Given the description of an element on the screen output the (x, y) to click on. 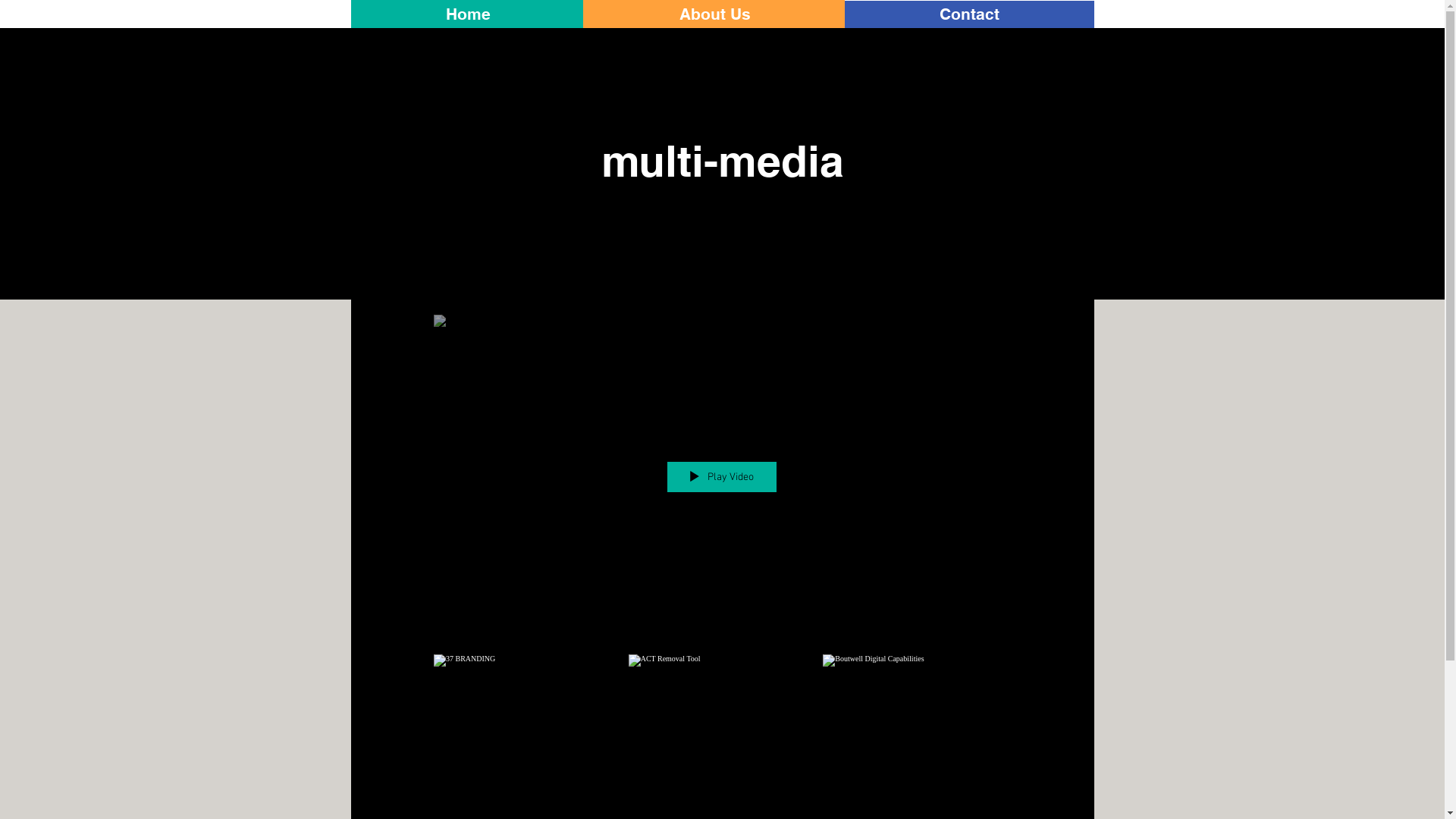
Contact Element type: text (968, 14)
About Us Element type: text (715, 14)
Play Video Element type: text (720, 476)
Home Element type: text (467, 14)
